Given the description of an element on the screen output the (x, y) to click on. 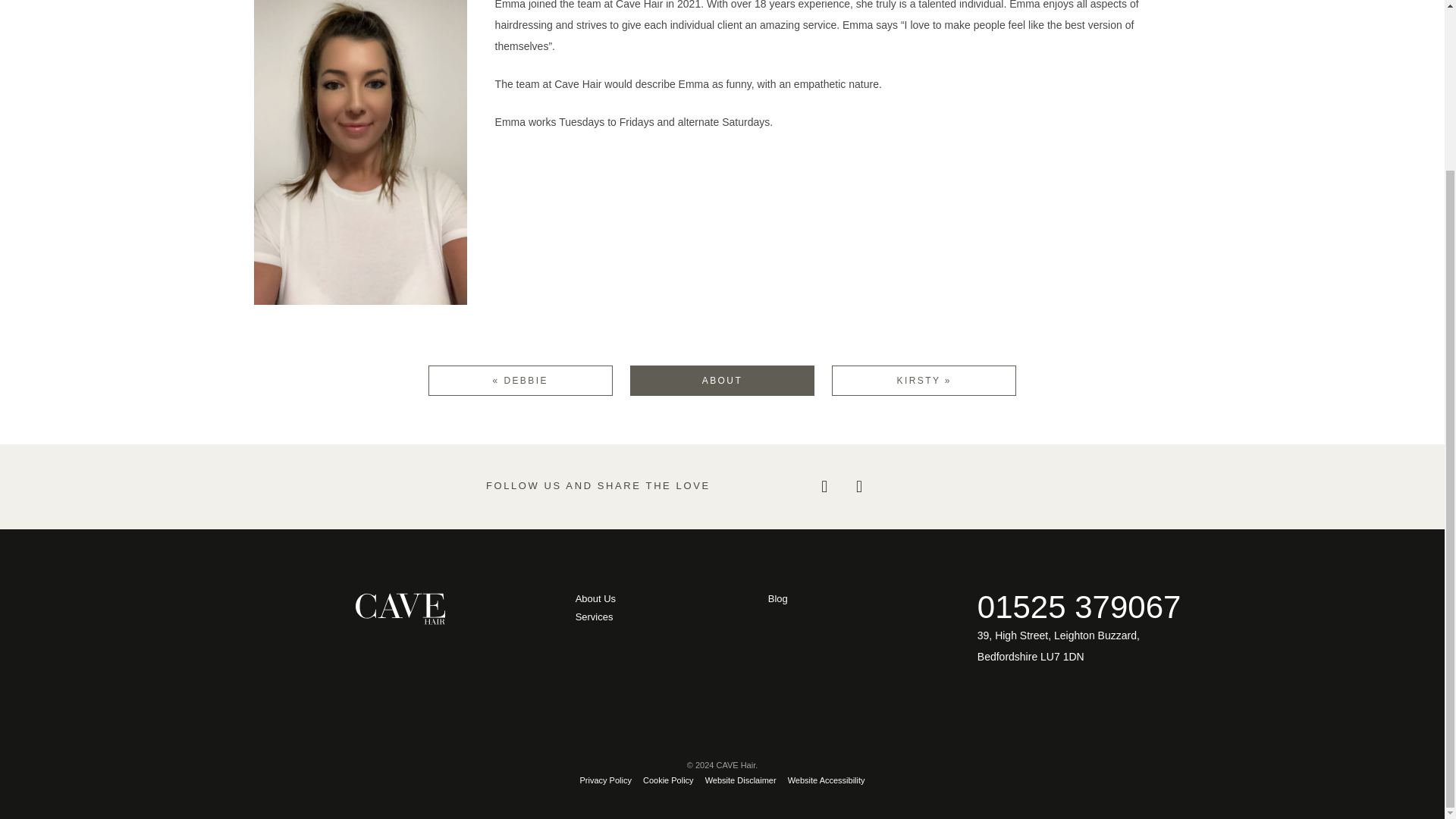
ABOUT (721, 380)
Call Us (1078, 606)
About Us (666, 598)
Website Accessibility (826, 780)
Privacy Policy (604, 780)
Cookie Policy (668, 780)
Blog (859, 598)
01525 379067 (1078, 606)
Services (666, 617)
Website Disclaimer (740, 780)
